Given the description of an element on the screen output the (x, y) to click on. 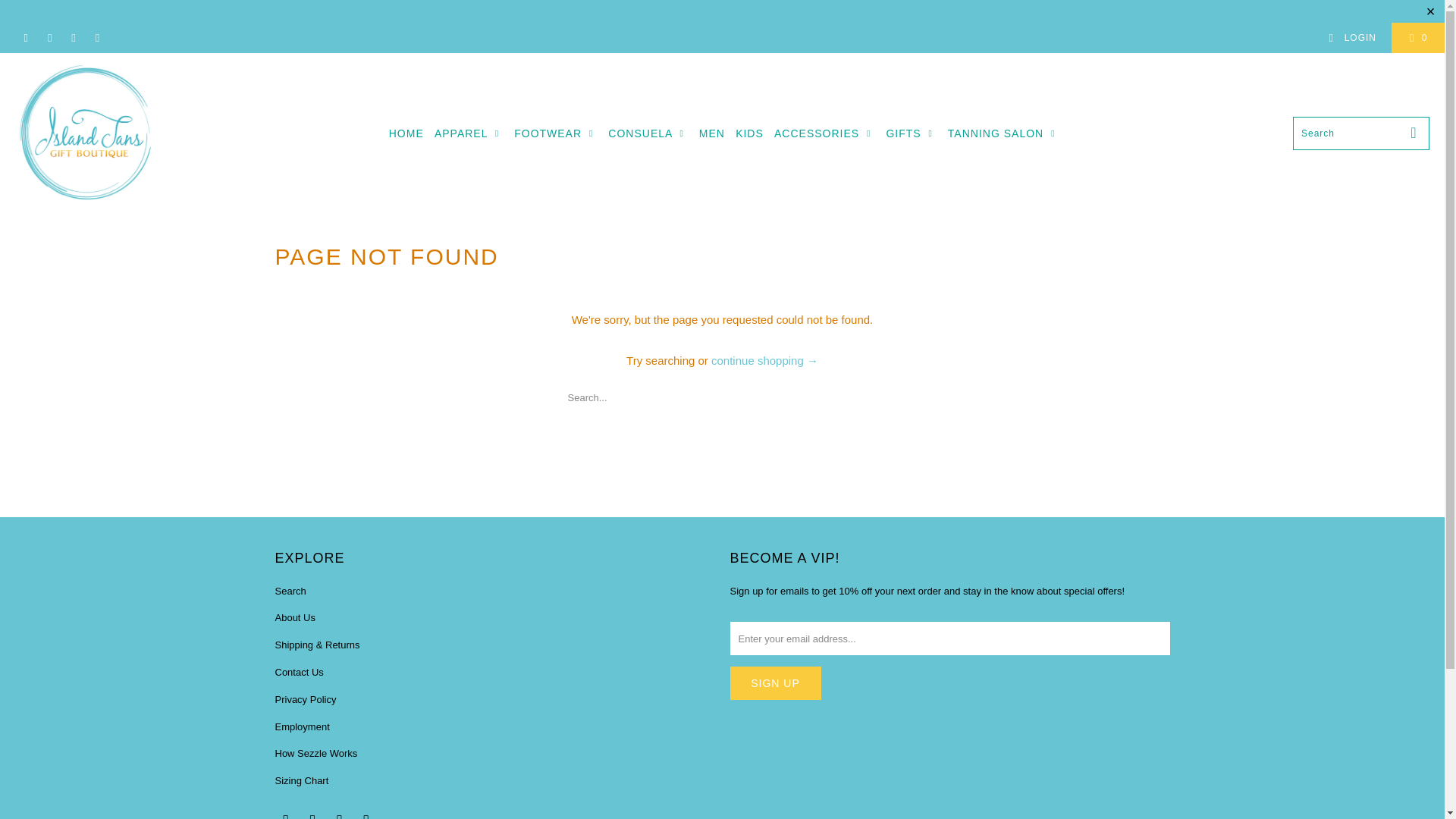
Island Tans Gift Boutique on Snapchat (366, 815)
Sign Up (775, 683)
Island Tans Gift Boutique on Twitter (25, 37)
Island Tans Gift Boutique on Snapchat (96, 37)
Island Tans Gift Boutique (84, 133)
Island Tans Gift Boutique on Instagram (339, 815)
Island Tans Gift Boutique on Twitter (286, 815)
My Account  (1351, 37)
Island Tans Gift Boutique on Facebook (312, 815)
Island Tans Gift Boutique on Instagram (73, 37)
